Given the description of an element on the screen output the (x, y) to click on. 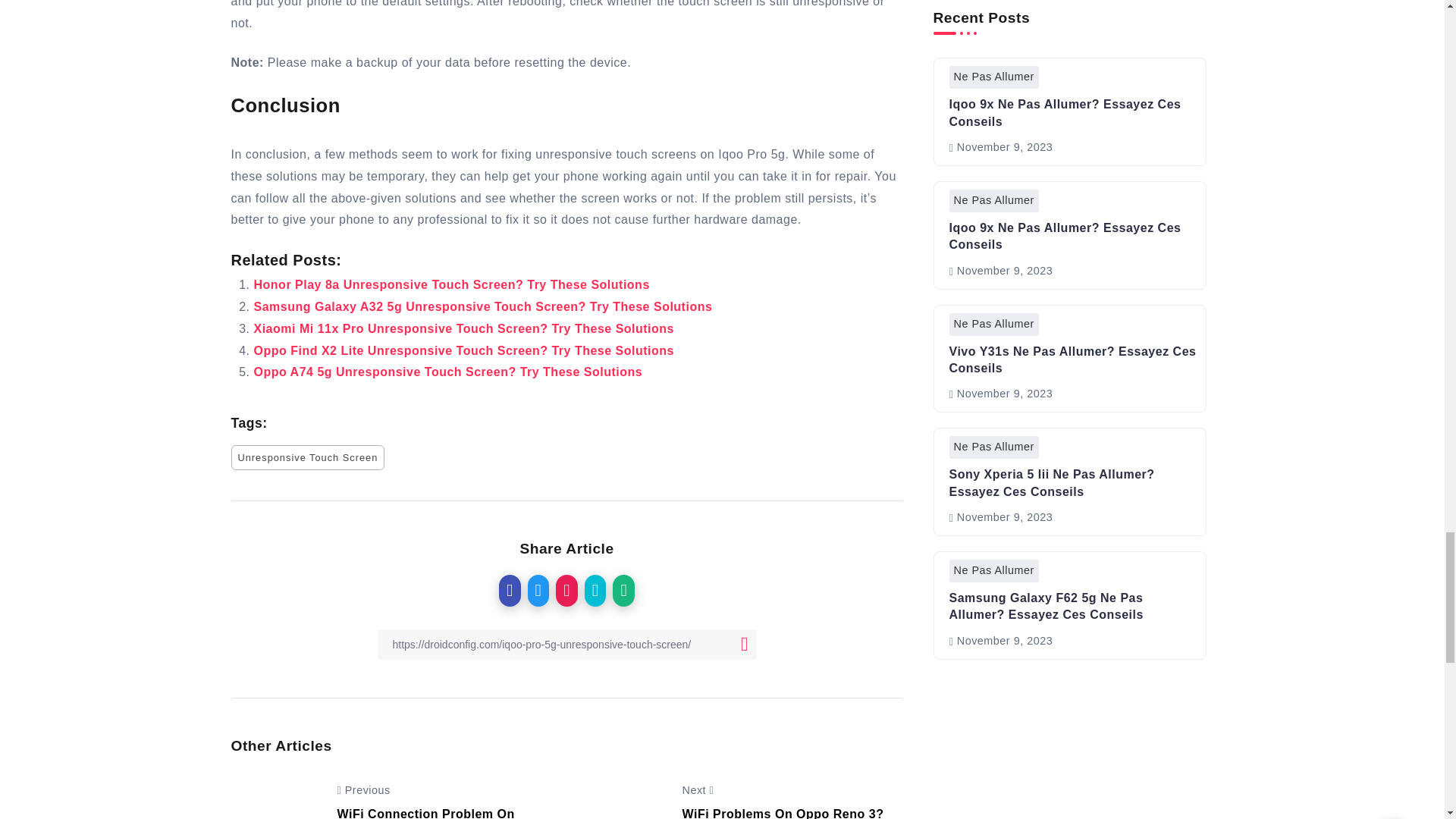
Oppo A74 5g Unresponsive Touch Screen? Try These Solutions (447, 371)
Honor Play 8a Unresponsive Touch Screen? Try These Solutions (451, 284)
Oppo A74 5g Unresponsive Touch Screen? Try These Solutions (447, 371)
Unresponsive Touch Screen (307, 457)
WiFi Problems On Oppo Reno 3? Try These Solutions (782, 812)
Honor Play 8a Unresponsive Touch Screen? Try These Solutions (451, 284)
